Given the description of an element on the screen output the (x, y) to click on. 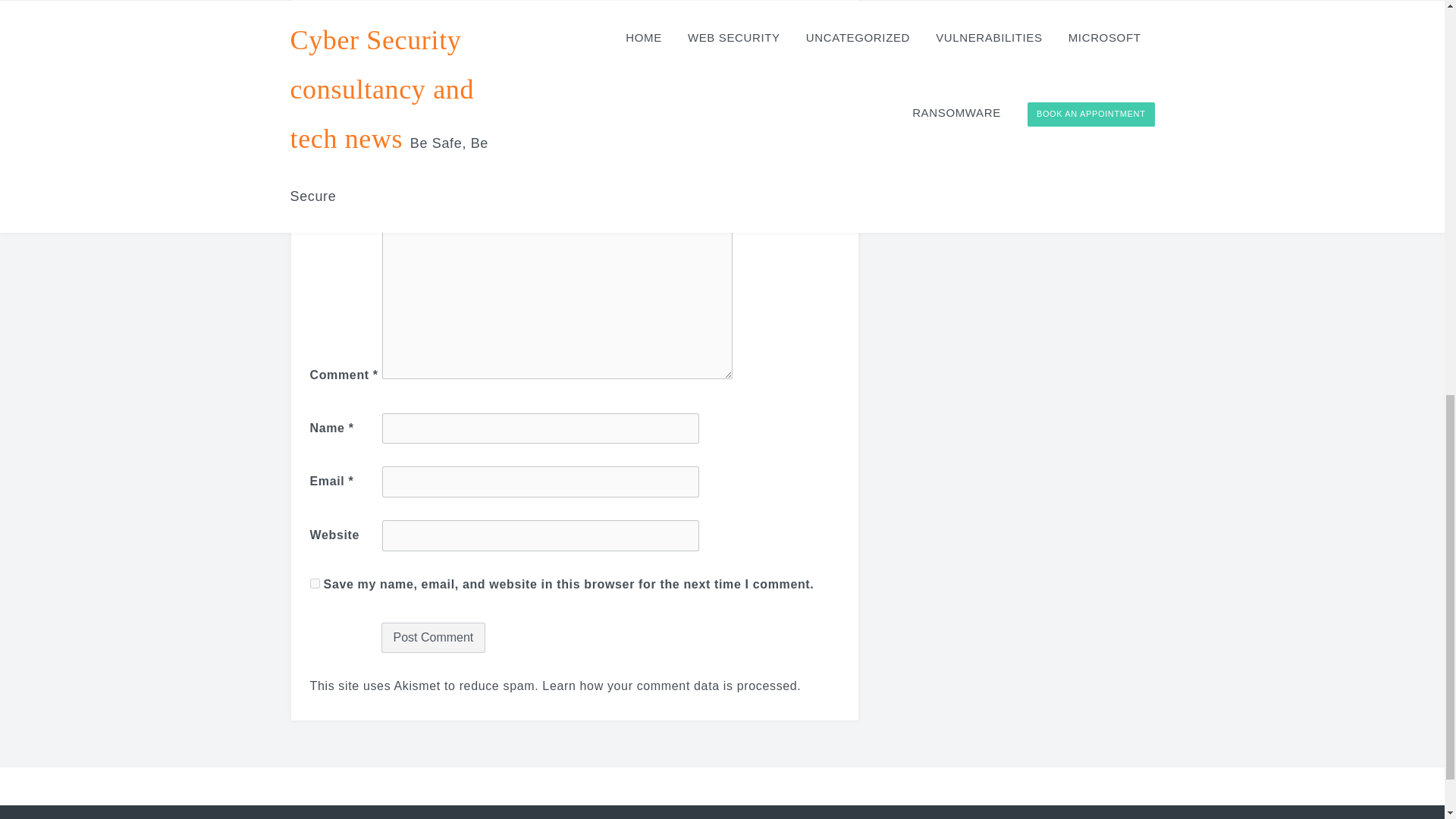
Learn how your comment data is processed (668, 685)
yes (313, 583)
Post Comment (432, 637)
Post Comment (432, 637)
